Given the description of an element on the screen output the (x, y) to click on. 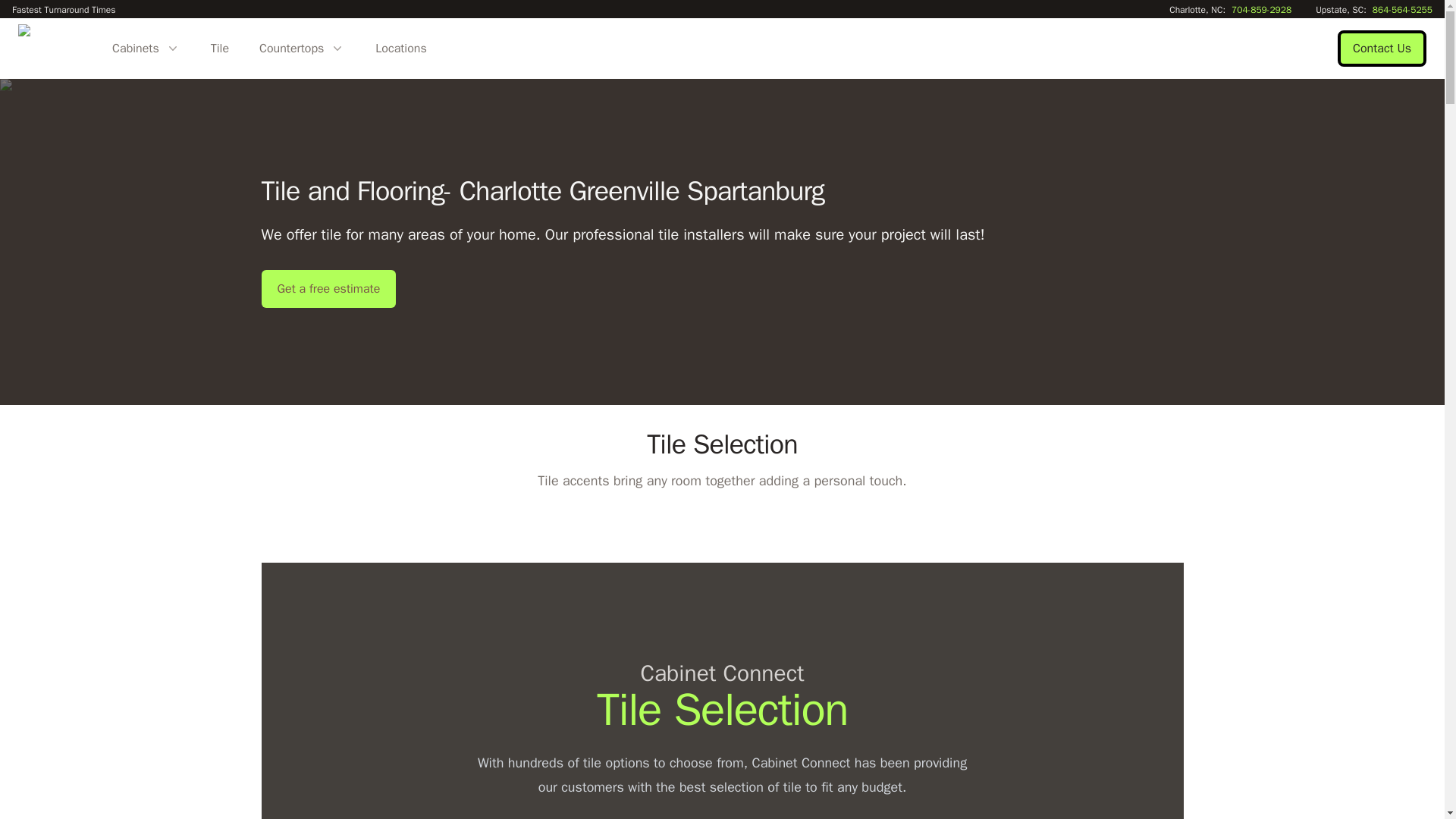
Cabinets (146, 48)
Charlotte, NC:704-859-2928 (1230, 9)
Cabinet Connect (49, 48)
Get a free estimate (328, 288)
Locations (400, 48)
Countertops (302, 48)
Contact Us (1381, 48)
Tile (219, 48)
